Given the description of an element on the screen output the (x, y) to click on. 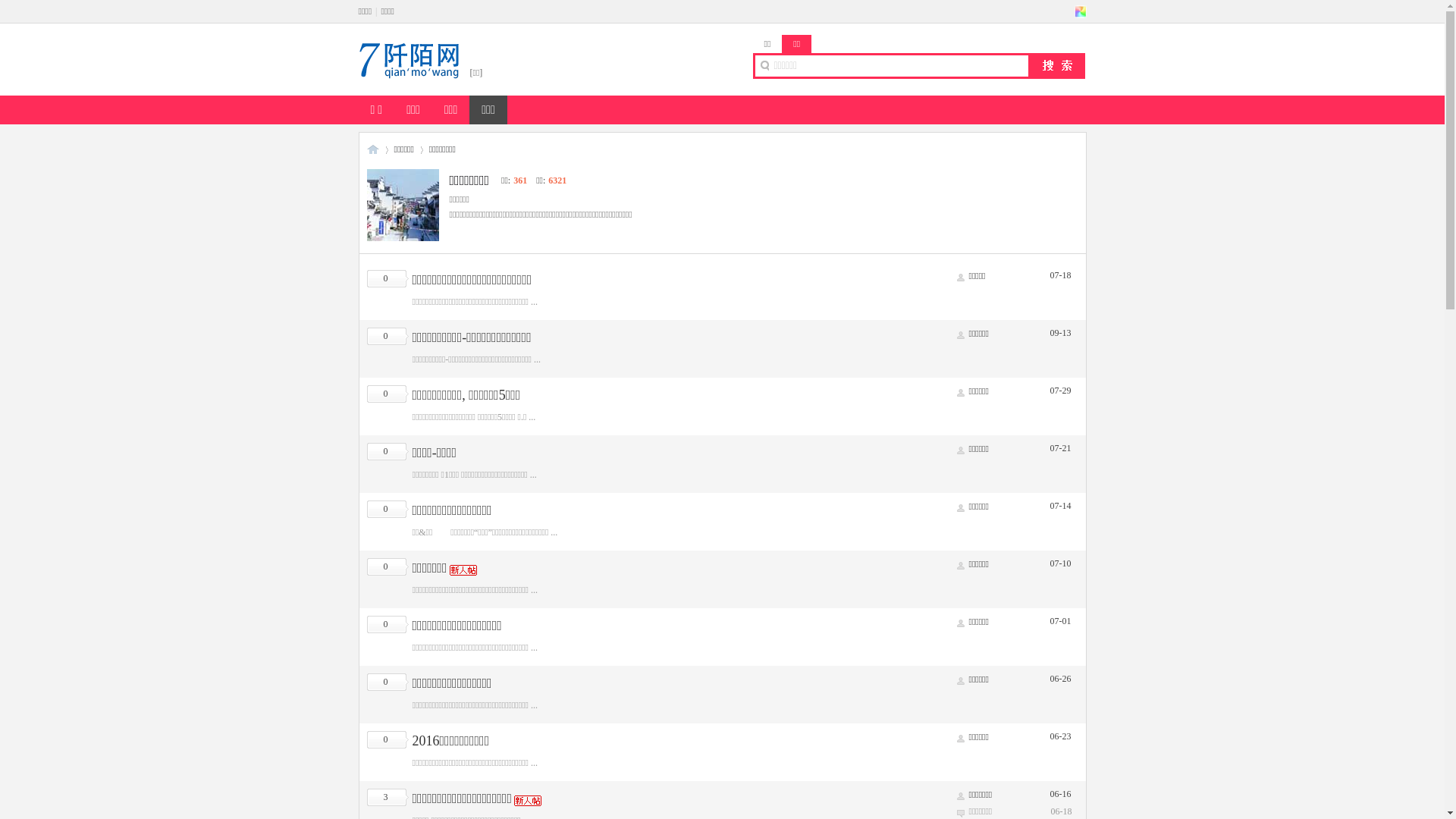
  Element type: text (1079, 11)
